Given the description of an element on the screen output the (x, y) to click on. 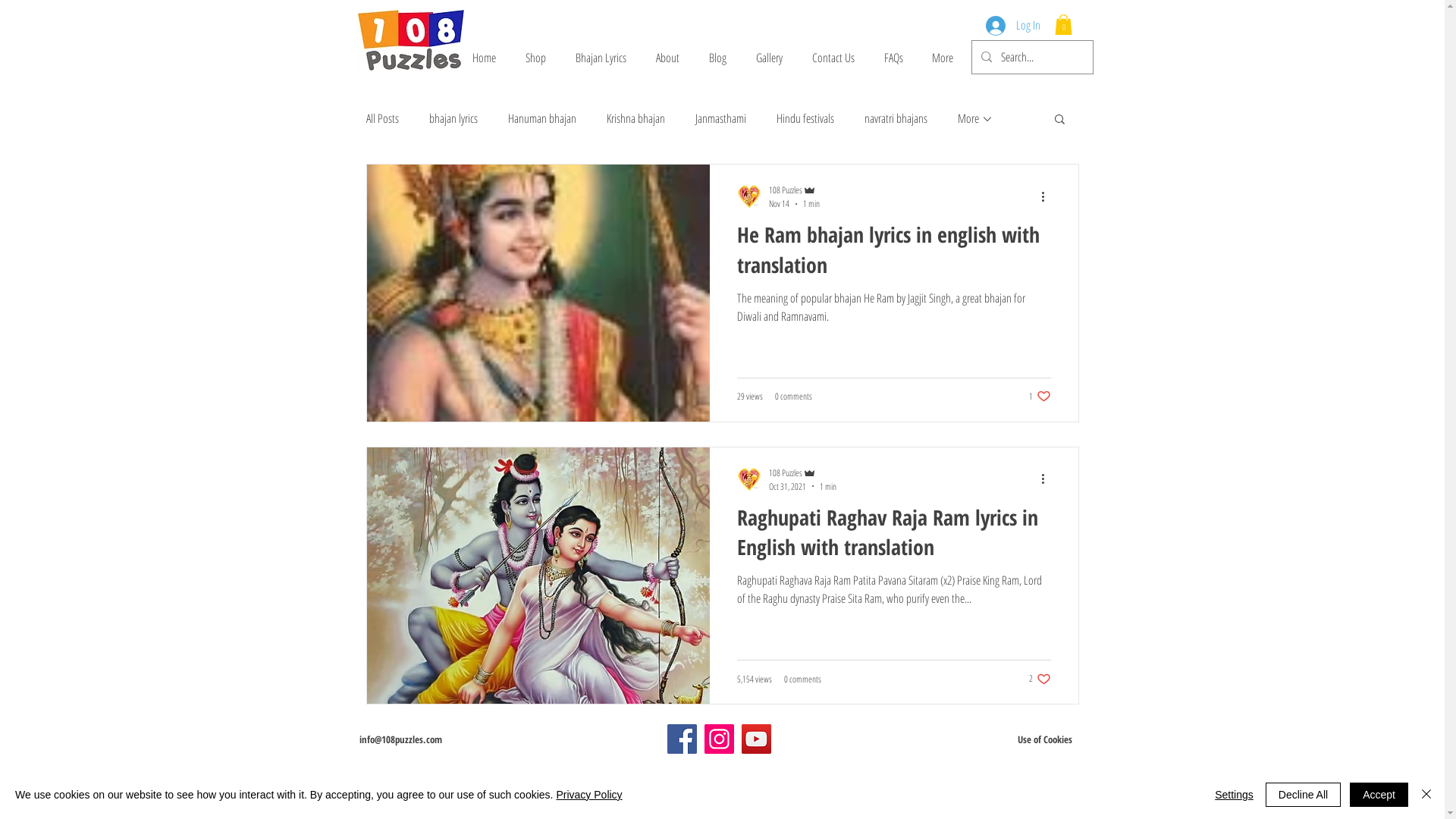
Log In Element type: text (1013, 24)
He Ram bhajan lyrics in english with translation Element type: text (894, 253)
Privacy Policy Element type: text (588, 794)
Janmasthami Element type: text (719, 117)
0 comments Element type: text (793, 395)
info@108puzzles.com Element type: text (400, 739)
Gallery Element type: text (769, 57)
Accept Element type: text (1378, 794)
Decline All Element type: text (1302, 794)
Shop Element type: text (536, 57)
Raghupati Raghav Raja Ram lyrics in English with translation Element type: text (894, 536)
Blog Element type: text (717, 57)
1 like. Post not marked as liked
1 Element type: text (1039, 396)
FAQs Element type: text (892, 57)
Bhajan Lyrics Element type: text (601, 57)
Home Element type: text (484, 57)
Krishna bhajan Element type: text (635, 117)
Hanuman bhajan Element type: text (542, 117)
bhajan lyrics Element type: text (453, 117)
0 comments Element type: text (802, 678)
navratri bhajans Element type: text (895, 117)
2 likes. Post not marked as liked
2 Element type: text (1039, 678)
All Posts Element type: text (381, 117)
Contact Us Element type: text (833, 57)
About Element type: text (667, 57)
108 Puzzles Element type: text (802, 472)
108 Puzzles Element type: text (793, 189)
Hindu festivals Element type: text (805, 117)
0 Element type: text (1062, 24)
